Given the description of an element on the screen output the (x, y) to click on. 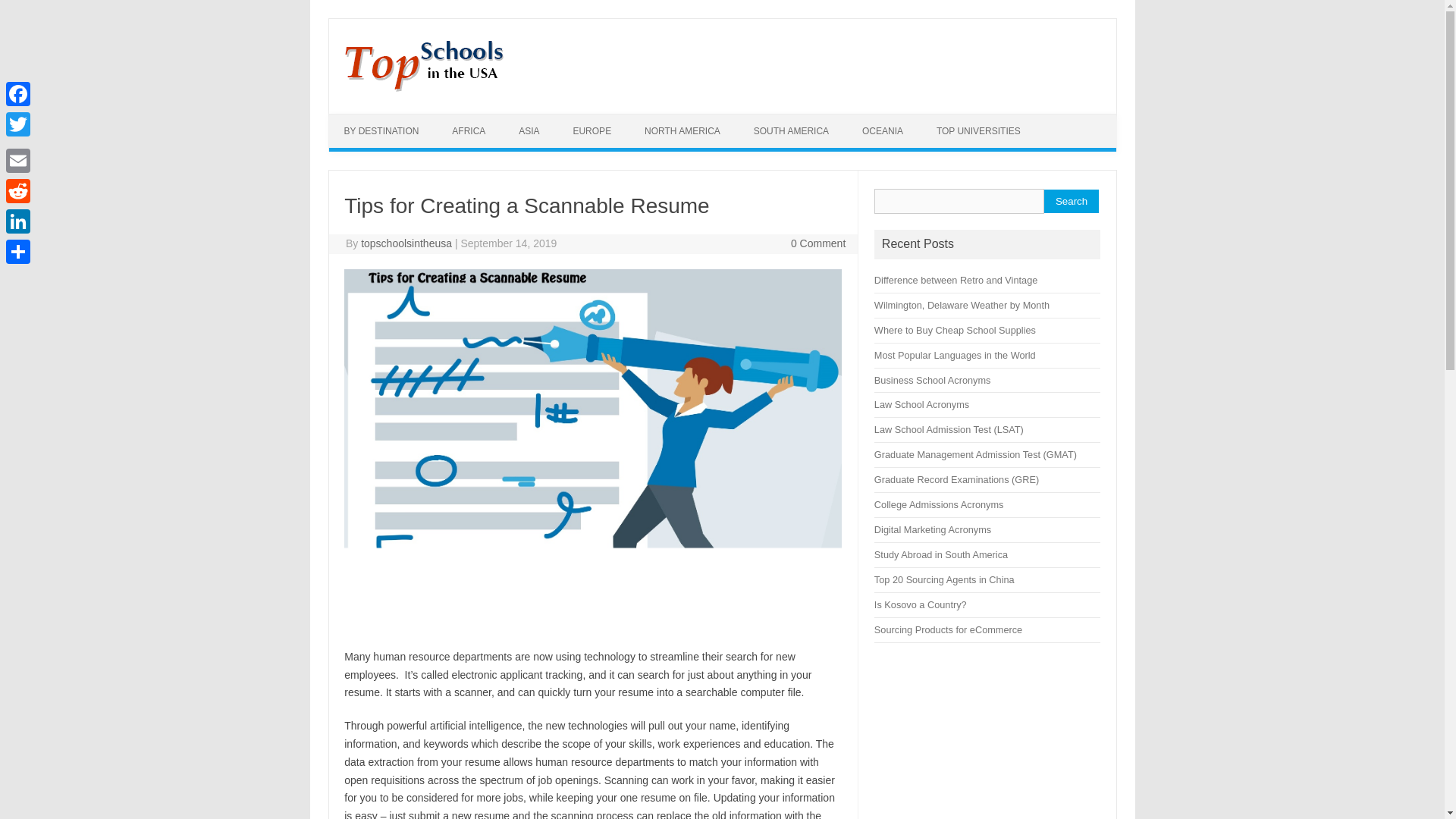
Business School Acronyms (933, 379)
ASIA (528, 131)
Law School Acronyms (922, 404)
Digital Marketing Acronyms (933, 529)
Reddit (17, 191)
Where to Buy Cheap School Supplies (955, 329)
Email (17, 160)
TOP UNIVERSITIES (978, 131)
Twitter (17, 123)
LinkedIn (17, 221)
